Given the description of an element on the screen output the (x, y) to click on. 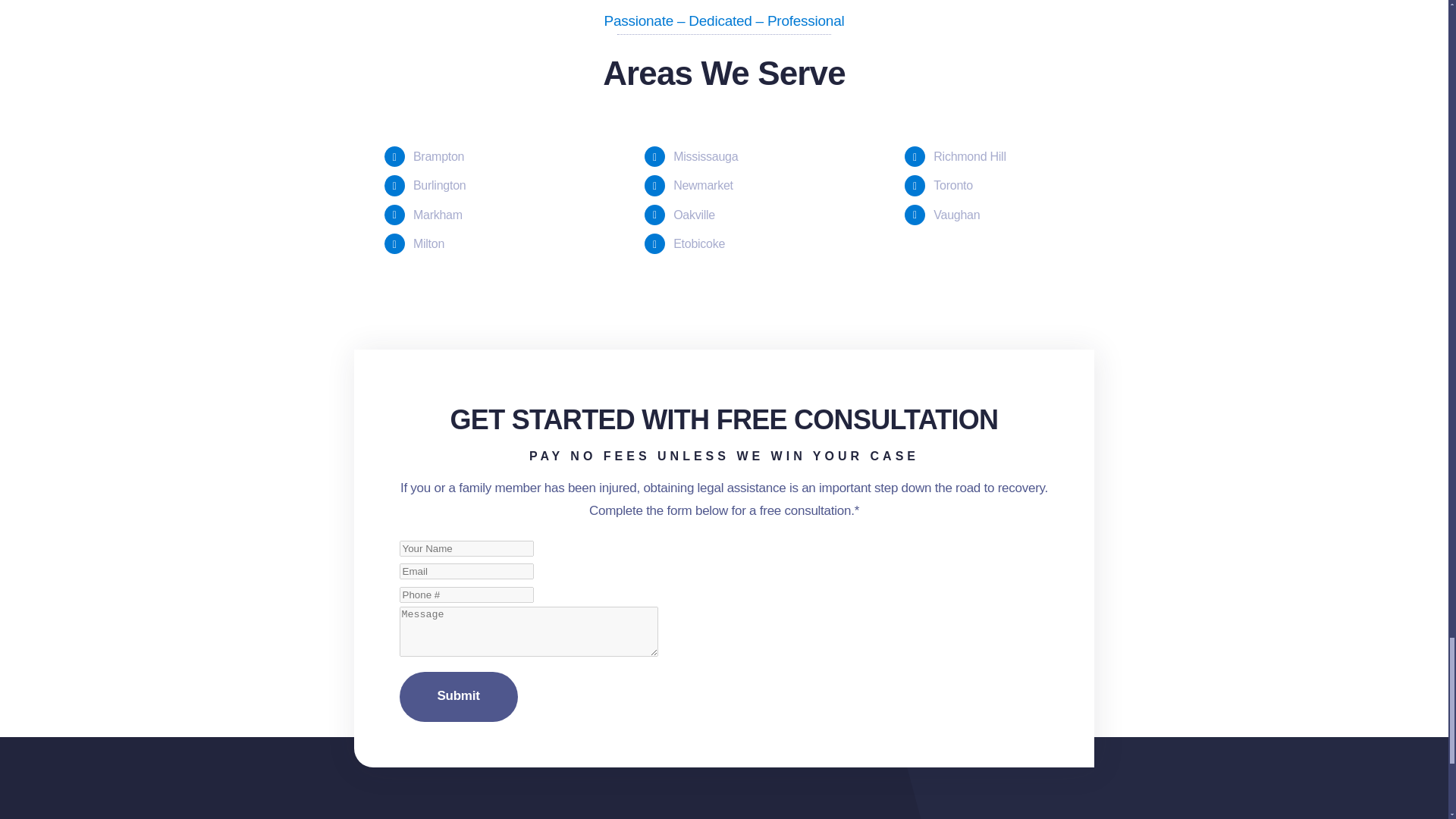
Submit (723, 629)
